Given the description of an element on the screen output the (x, y) to click on. 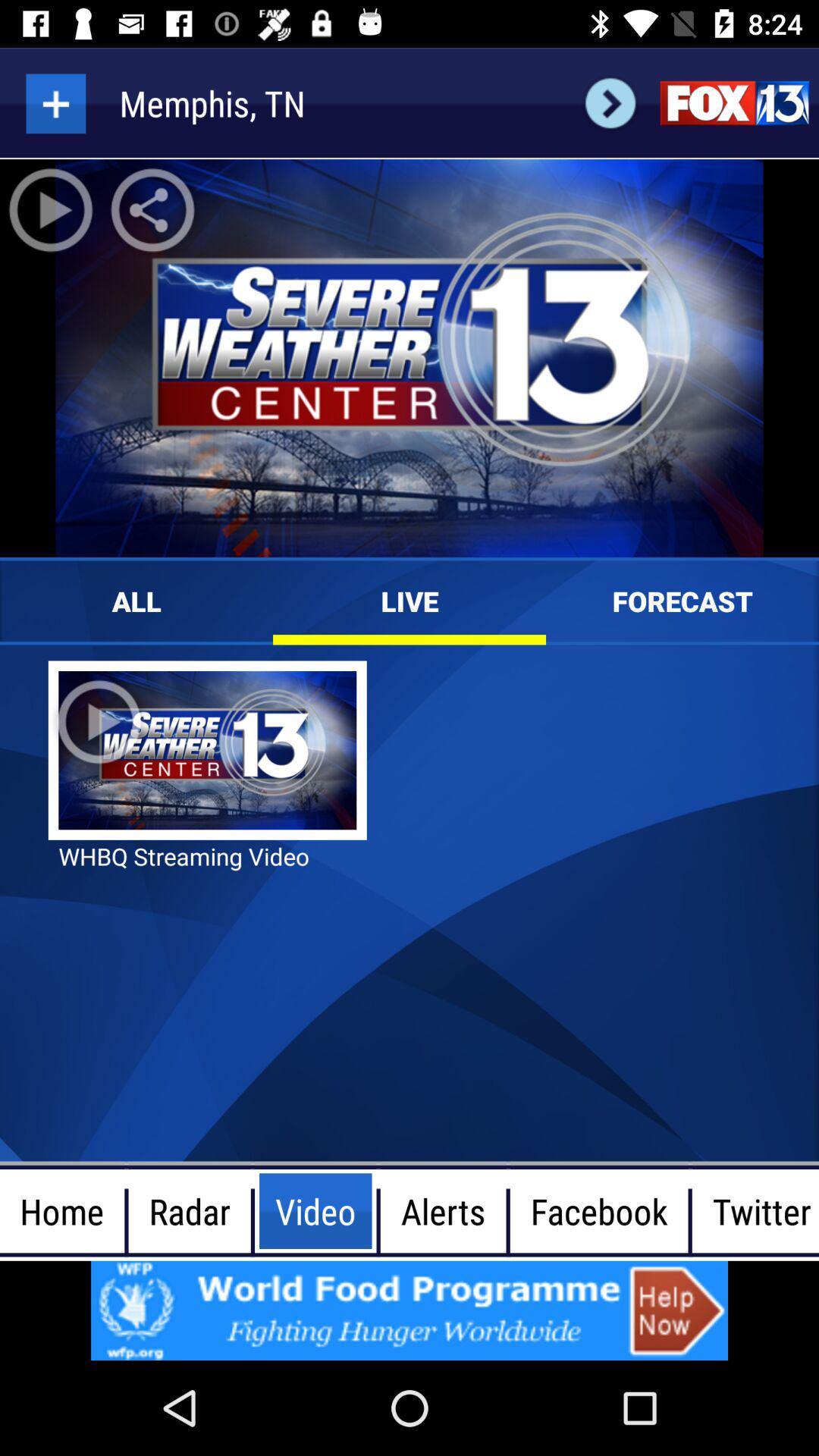
go forward (610, 103)
